Given the description of an element on the screen output the (x, y) to click on. 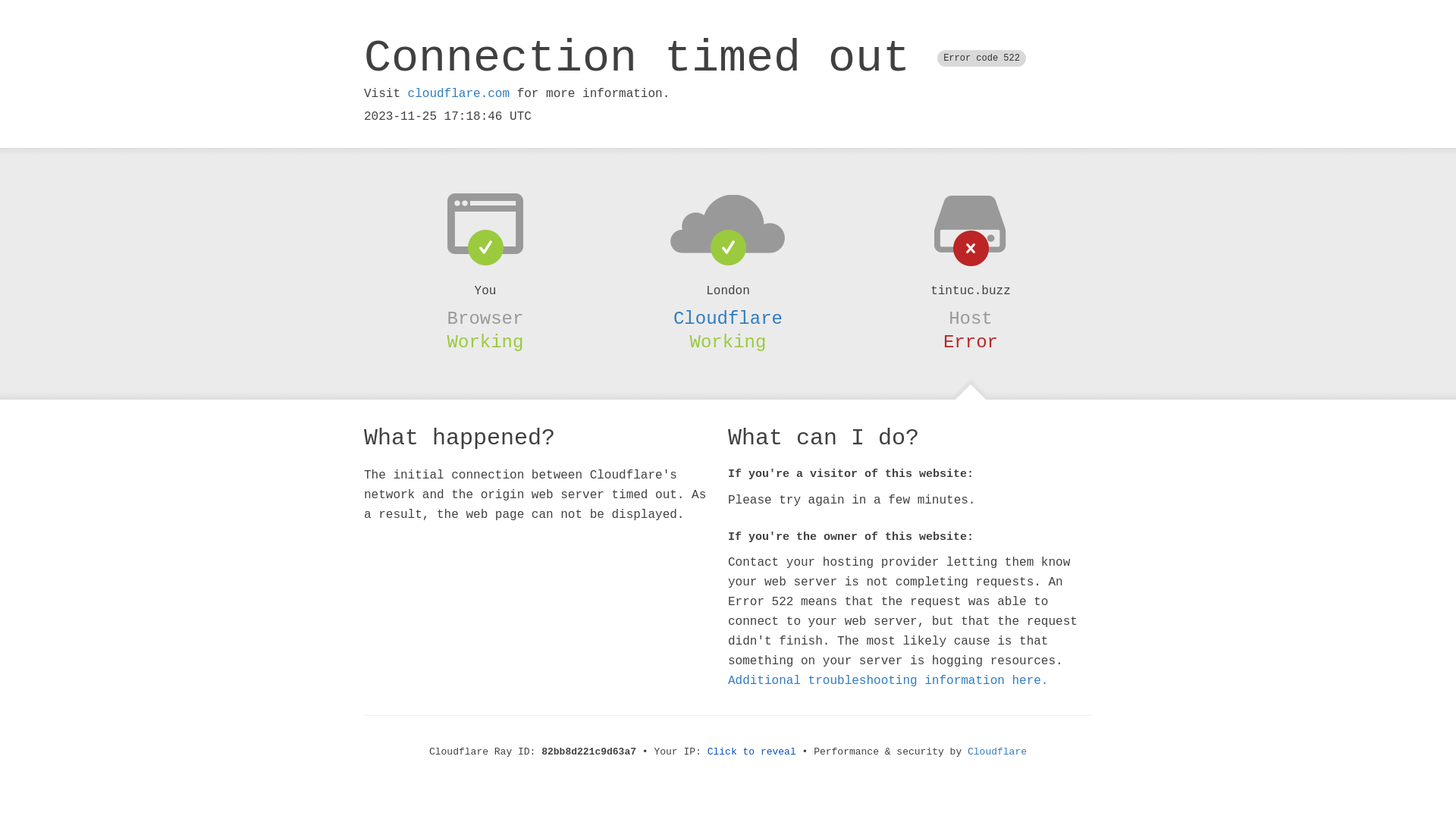
Click to reveal Element type: text (751, 751)
cloudflare.com Element type: text (458, 93)
Additional troubleshooting information here. Element type: text (888, 680)
Cloudflare Element type: text (996, 751)
Cloudflare Element type: text (727, 318)
